Given the description of an element on the screen output the (x, y) to click on. 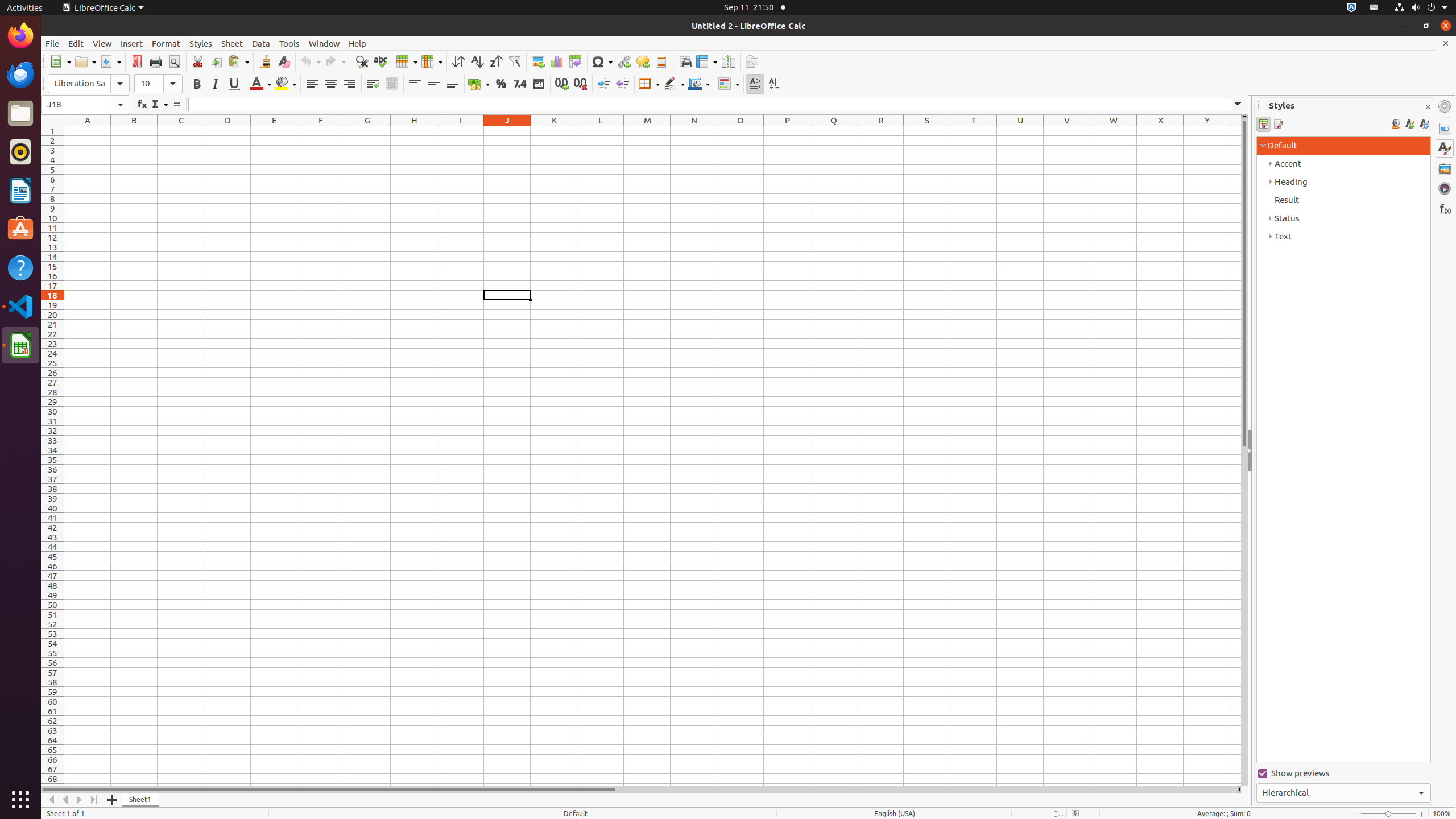
Conditional Element type: push-button (728, 83)
Align Left Element type: push-button (311, 83)
B1 Element type: table-cell (133, 130)
Move To End Element type: push-button (94, 799)
Copy Element type: push-button (216, 61)
